Given the description of an element on the screen output the (x, y) to click on. 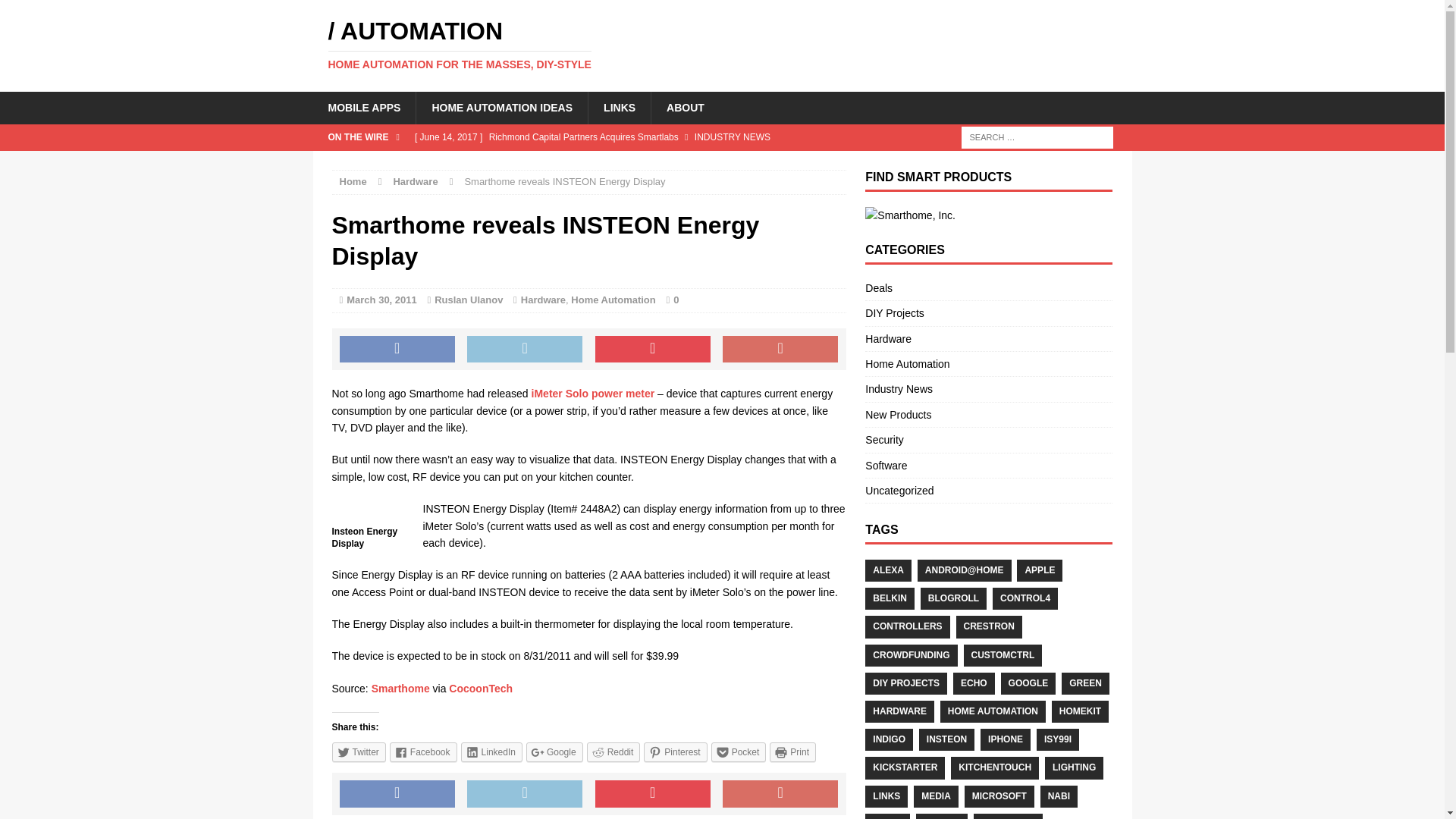
Pinterest (674, 752)
Smarthome (400, 688)
March 30, 2011 (381, 299)
Search (37, 11)
Pocket (739, 752)
LinkedIn (491, 752)
Pin This Post (652, 349)
ABOUT (684, 107)
LINKS (619, 107)
Click to share on LinkedIn (491, 752)
